Given the description of an element on the screen output the (x, y) to click on. 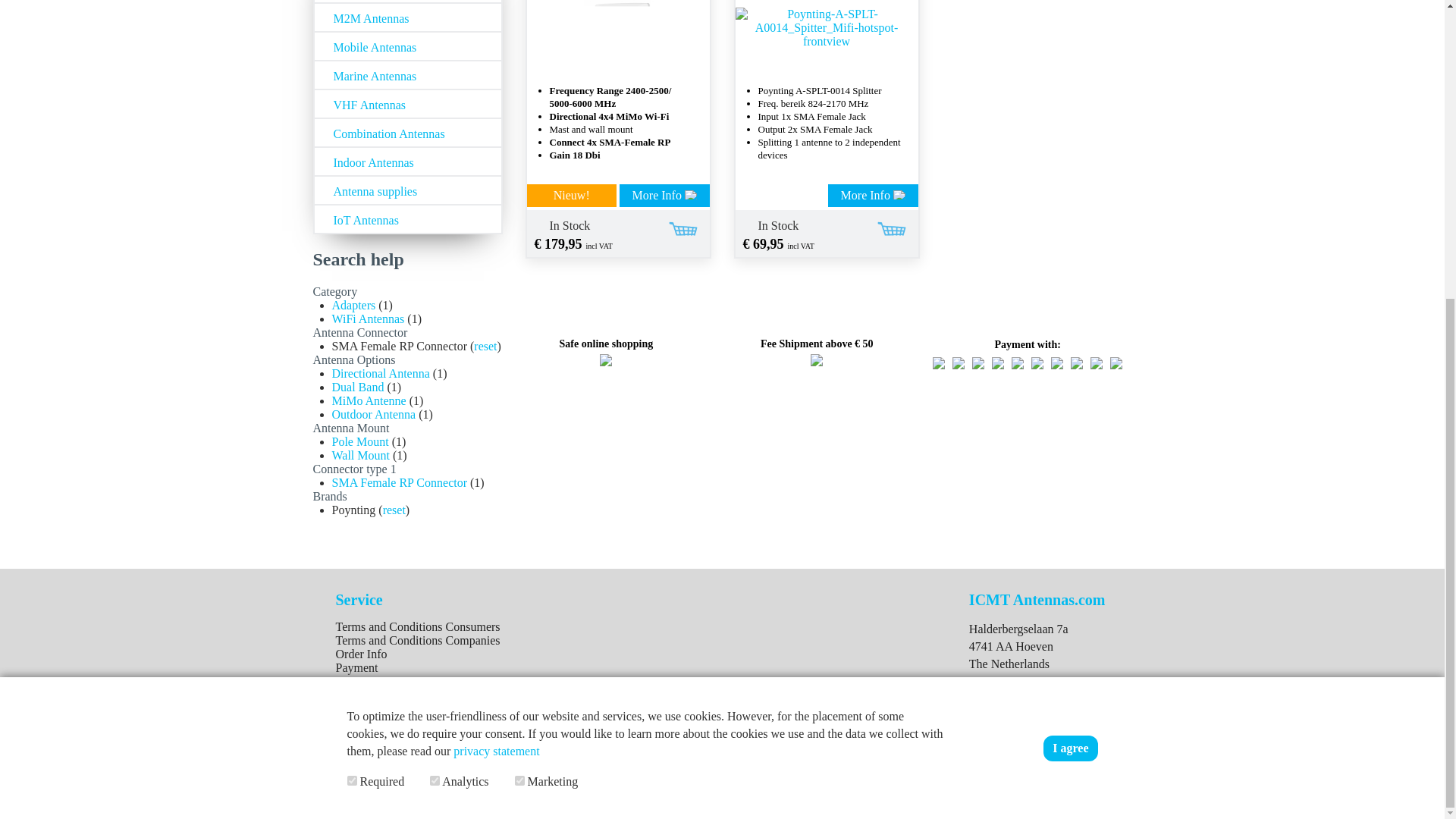
Marine Antennas (407, 74)
on (351, 317)
reset (485, 345)
Indoor Antennas (407, 161)
SMA Female RP Connector (399, 481)
Combination Antennas (407, 132)
Directional Antenna (380, 373)
on (434, 317)
VHF Antennas (407, 103)
MiMo Antenne (368, 400)
on (519, 317)
Wall Mount (360, 454)
IoT Antennas (407, 218)
Outdoor Antenna (373, 413)
Adapters (353, 305)
